Given the description of an element on the screen output the (x, y) to click on. 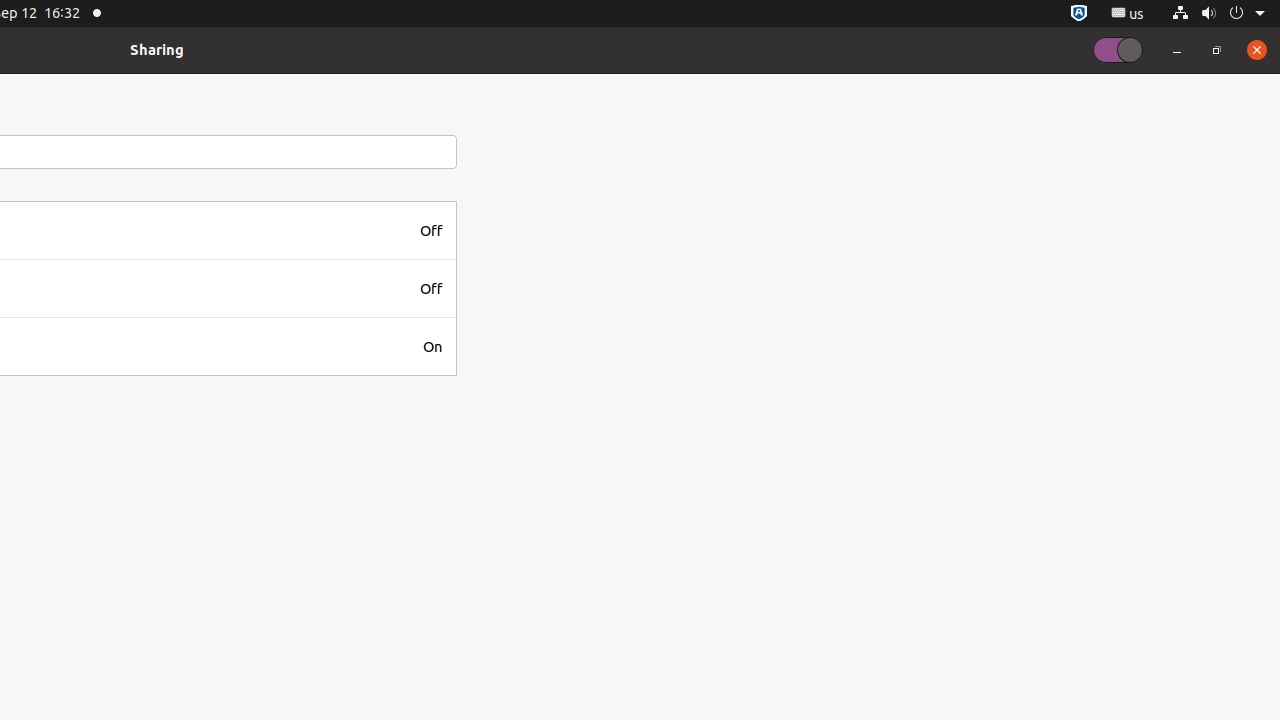
On Element type: label (432, 346)
Restore Element type: push-button (1217, 50)
Off Element type: label (431, 230)
Sharing Element type: label (157, 49)
